Given the description of an element on the screen output the (x, y) to click on. 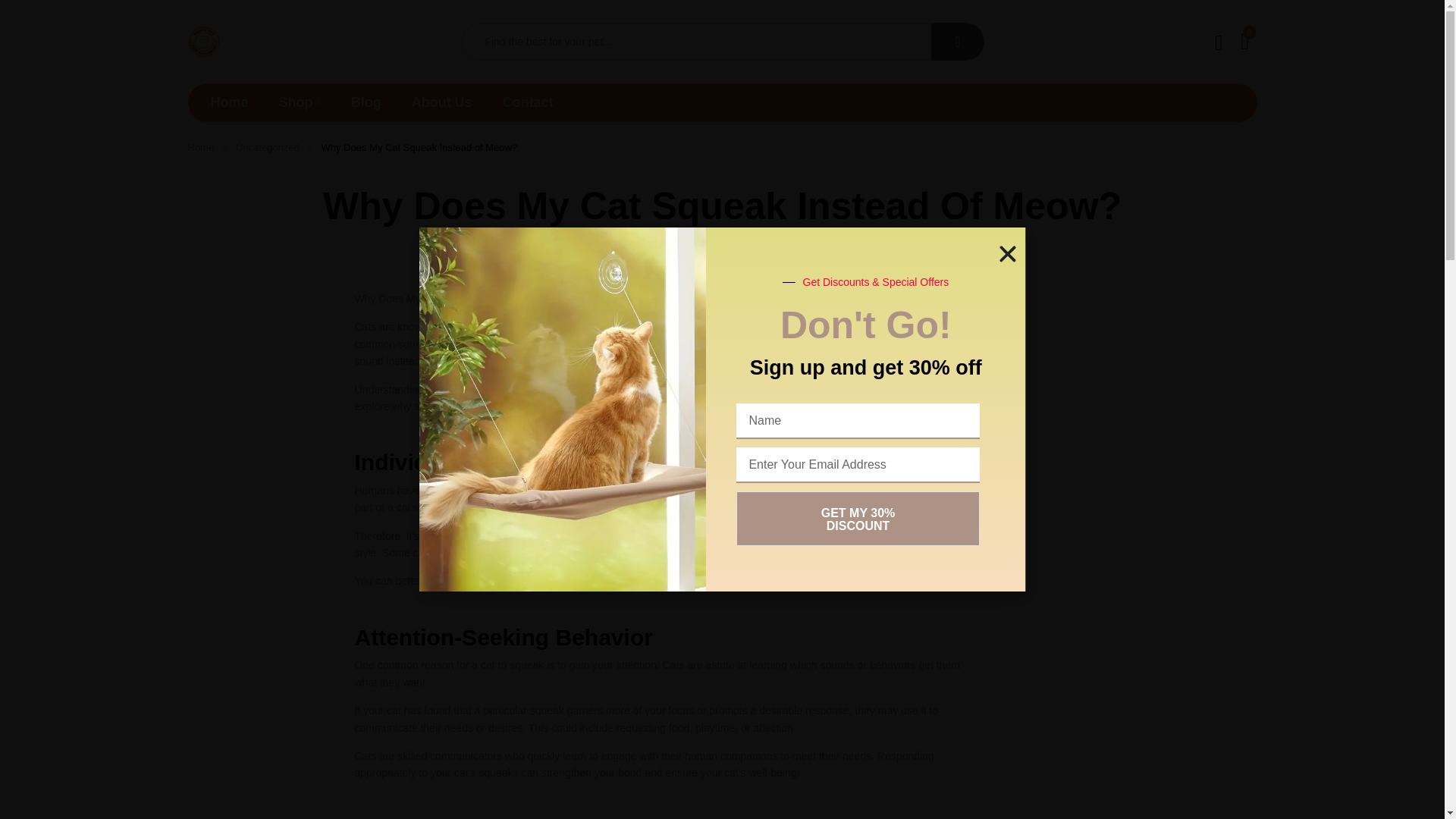
About Us (441, 102)
Blog (365, 102)
0 Comments (722, 243)
search (957, 41)
Contact (527, 102)
Shop (299, 102)
Uncategorized (267, 147)
Home (200, 147)
Home (229, 102)
